Given the description of an element on the screen output the (x, y) to click on. 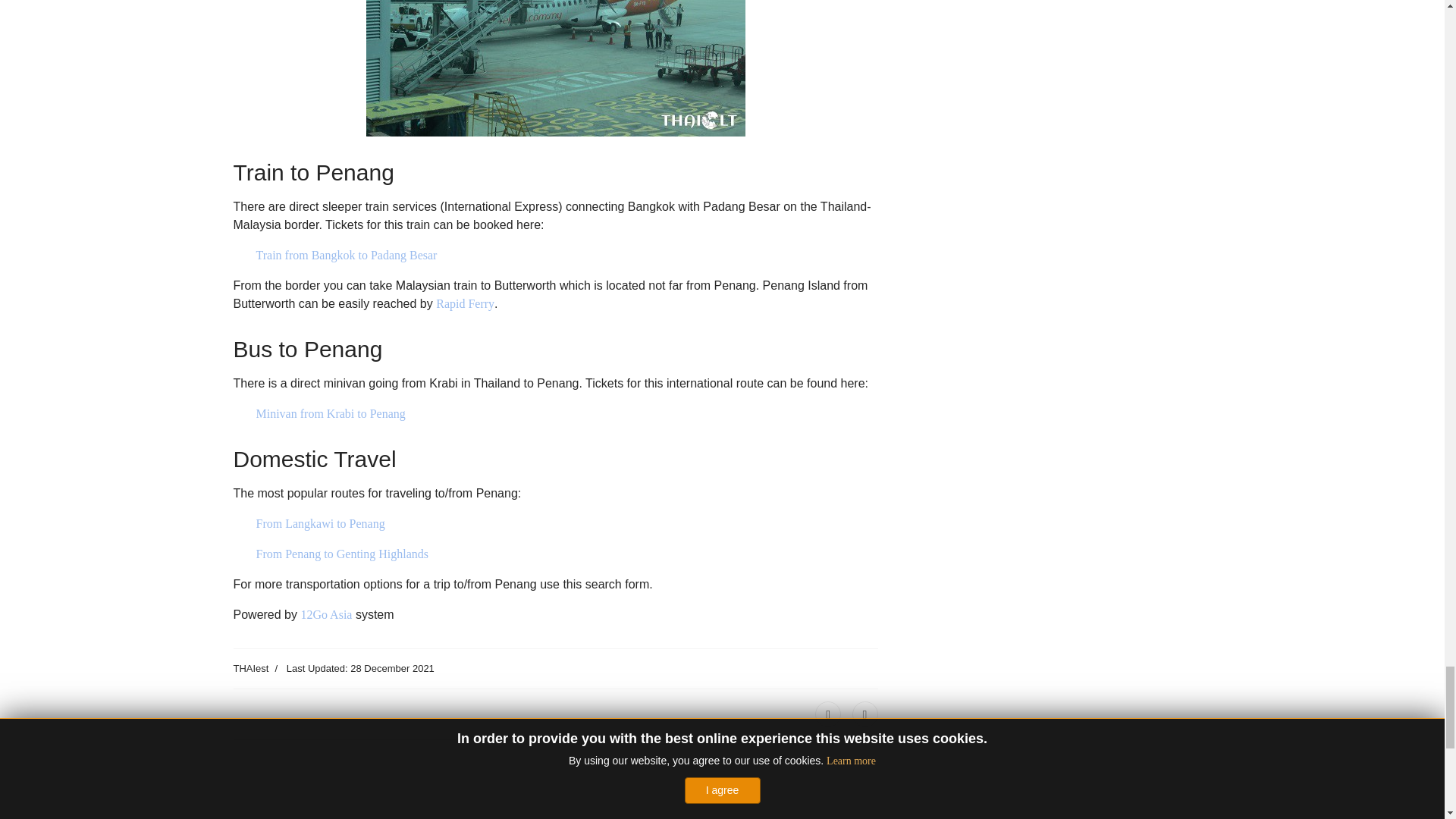
Twitter (864, 714)
Facebook (828, 714)
Written by: THAIest (250, 668)
